Given the description of an element on the screen output the (x, y) to click on. 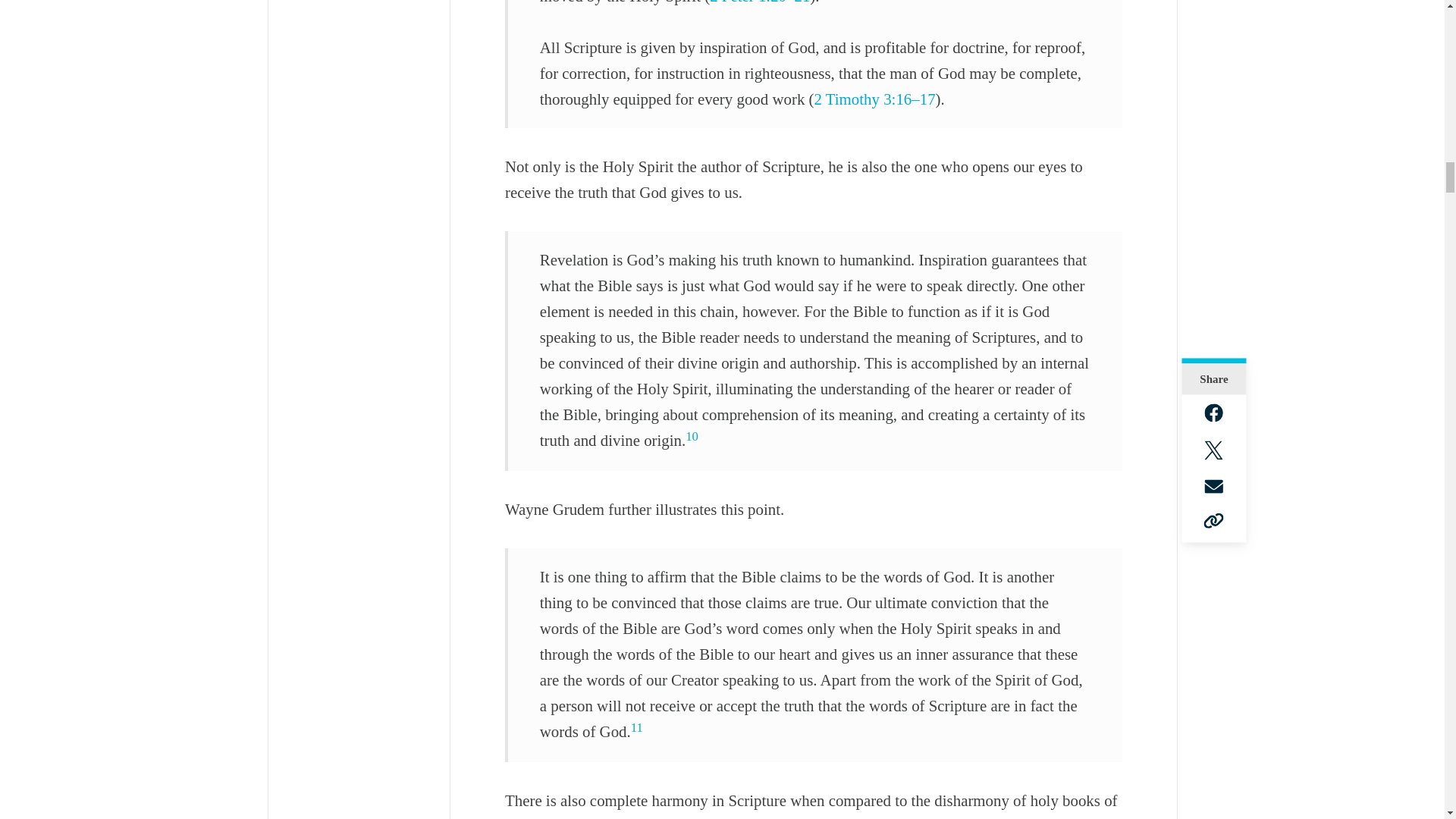
Footnote 11 (636, 727)
Footnote 10 (691, 436)
